Given the description of an element on the screen output the (x, y) to click on. 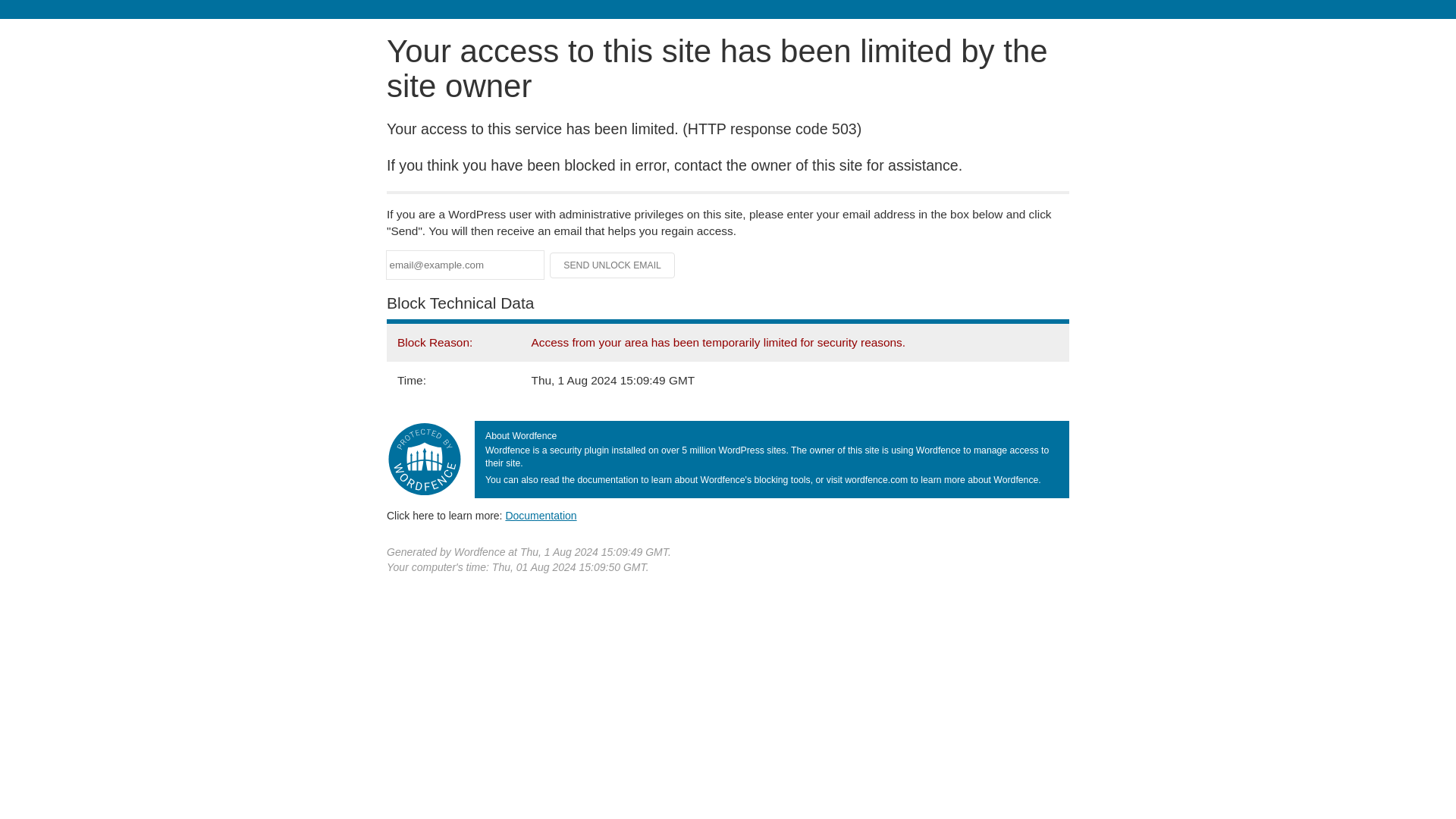
Documentation (540, 515)
Send Unlock Email (612, 265)
Send Unlock Email (612, 265)
